Given the description of an element on the screen output the (x, y) to click on. 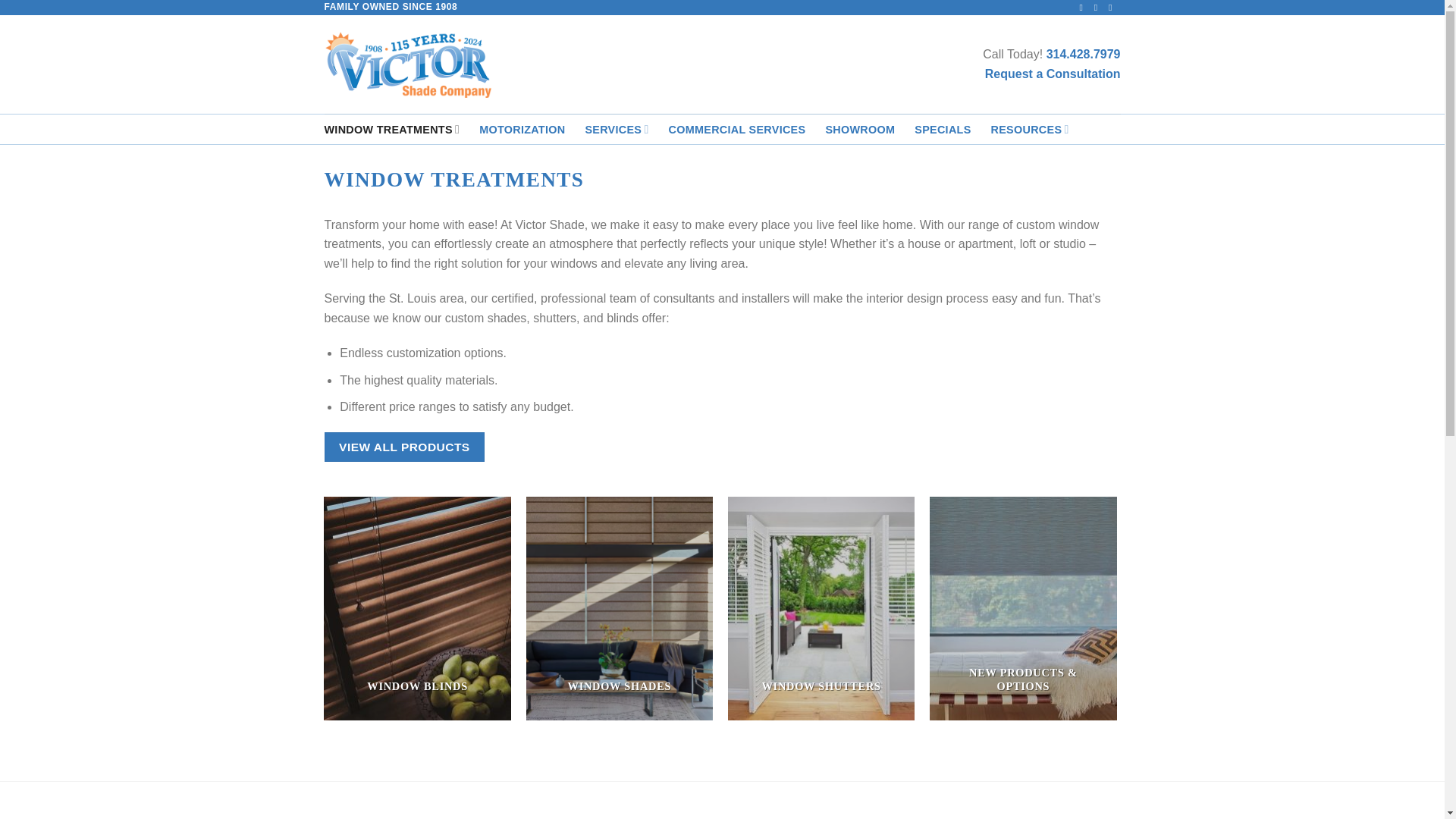
314.428.7979 (1083, 53)
WINDOW TREATMENTS (392, 129)
Request a Consultation (1053, 73)
SHOWROOM (860, 129)
Victor Shade - Family Owned Since 1906 (408, 64)
SPECIALS (942, 129)
RESOURCES (1029, 129)
MOTORIZATION (521, 129)
SERVICES (616, 129)
COMMERCIAL SERVICES (737, 129)
